Given the description of an element on the screen output the (x, y) to click on. 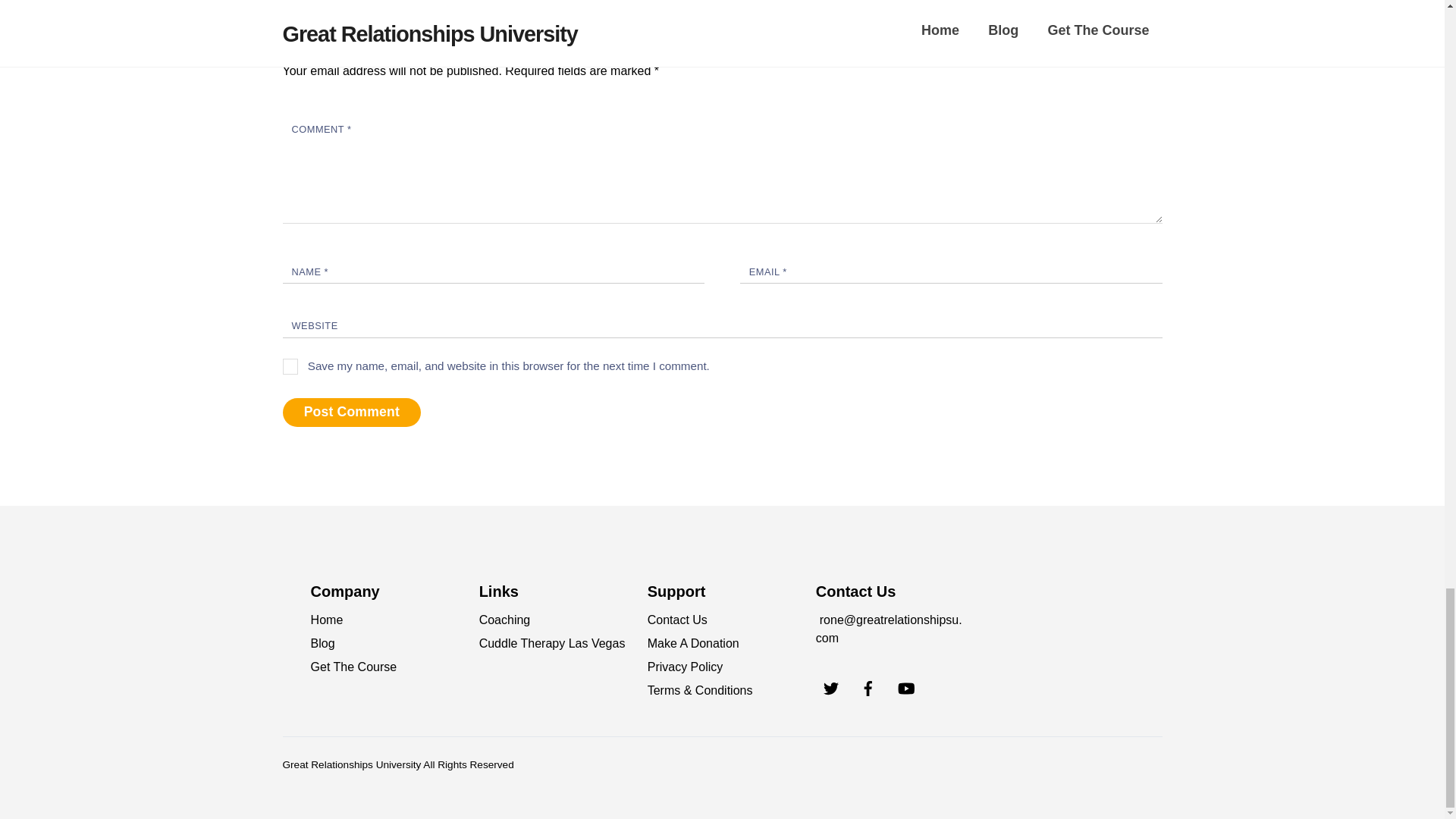
Cuddle Therapy Las Vegas (552, 643)
Blog (322, 643)
Make A Donation (693, 643)
Home (327, 619)
Post Comment (351, 412)
Privacy Policy (685, 666)
Get The Course (354, 666)
Coaching (505, 619)
Contact Us (677, 619)
yes (290, 366)
Post Comment (351, 412)
